Given the description of an element on the screen output the (x, y) to click on. 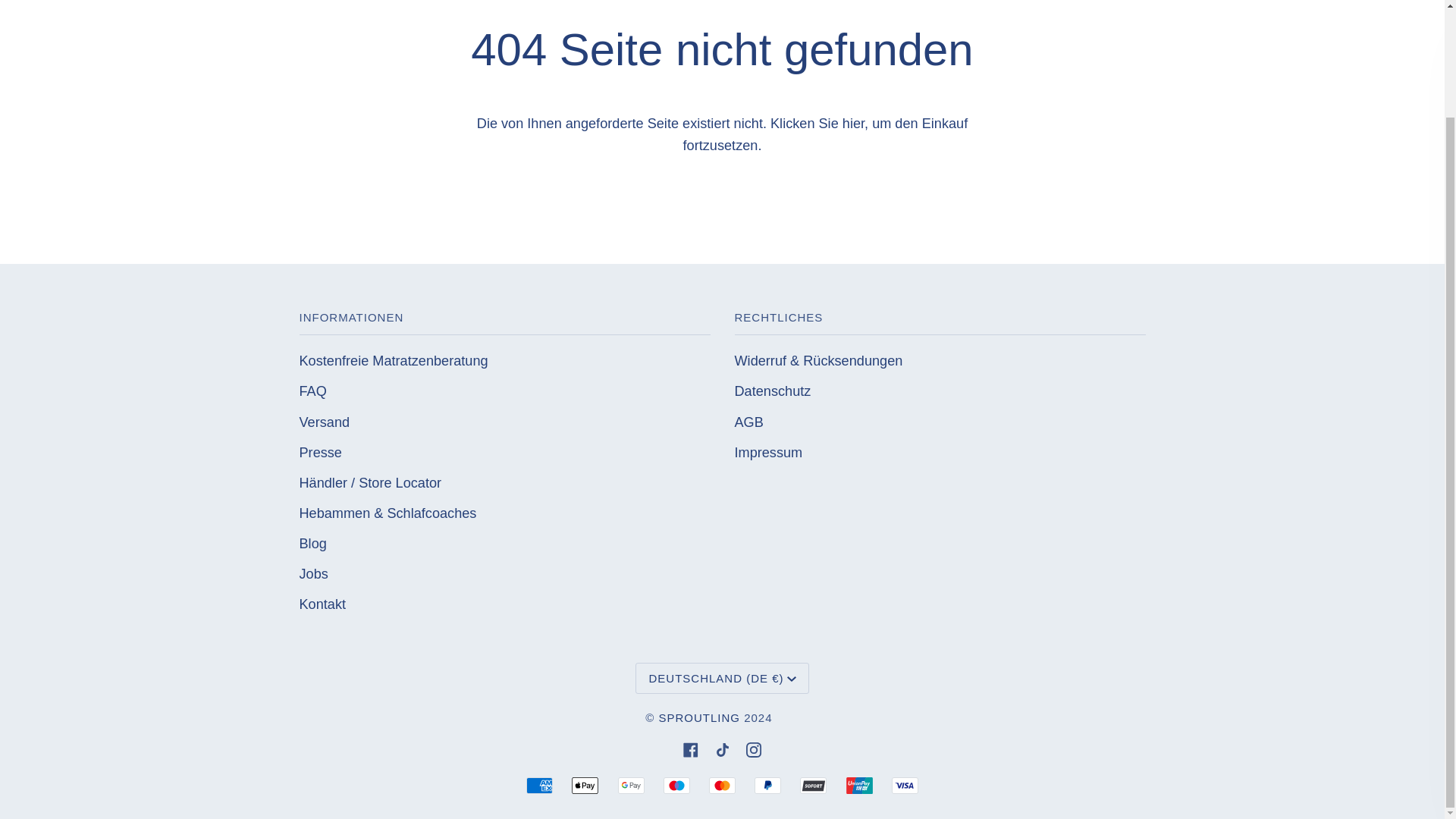
VISA (904, 785)
MAESTRO (676, 785)
Instagram (753, 749)
Tiktok (721, 749)
UNION PAY (858, 785)
SOFORT (813, 785)
APPLE PAY (585, 785)
MASTERCARD (722, 785)
AMERICAN EXPRESS (539, 785)
GOOGLE PAY (631, 785)
Facebook (690, 749)
PAYPAL (767, 785)
